Given the description of an element on the screen output the (x, y) to click on. 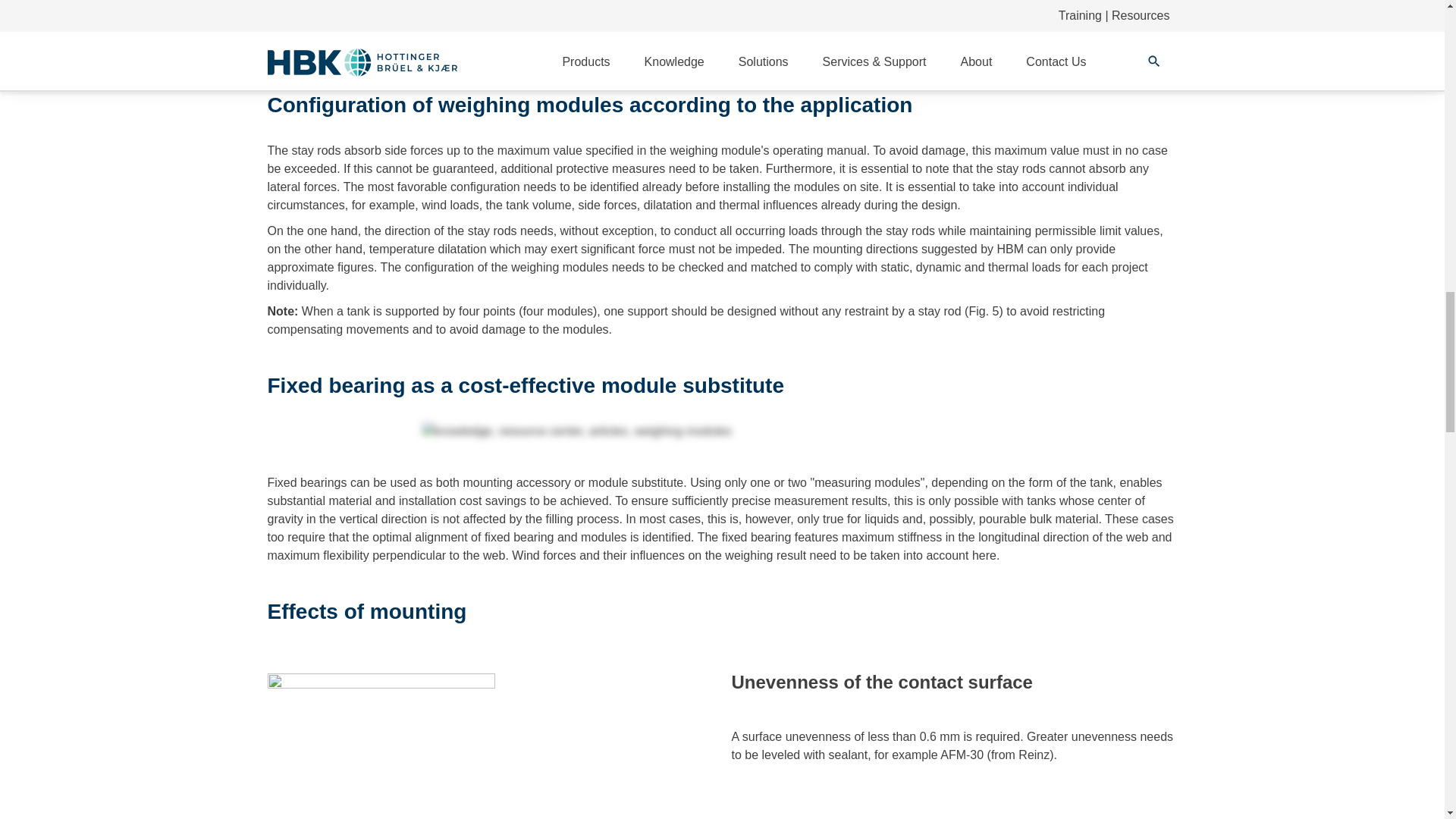
abb5 en (722, 431)
wei C16C3 MSLR 20T 001 (373, 13)
wei HLCB1C3 1.76T 001 (606, 13)
